Given the description of an element on the screen output the (x, y) to click on. 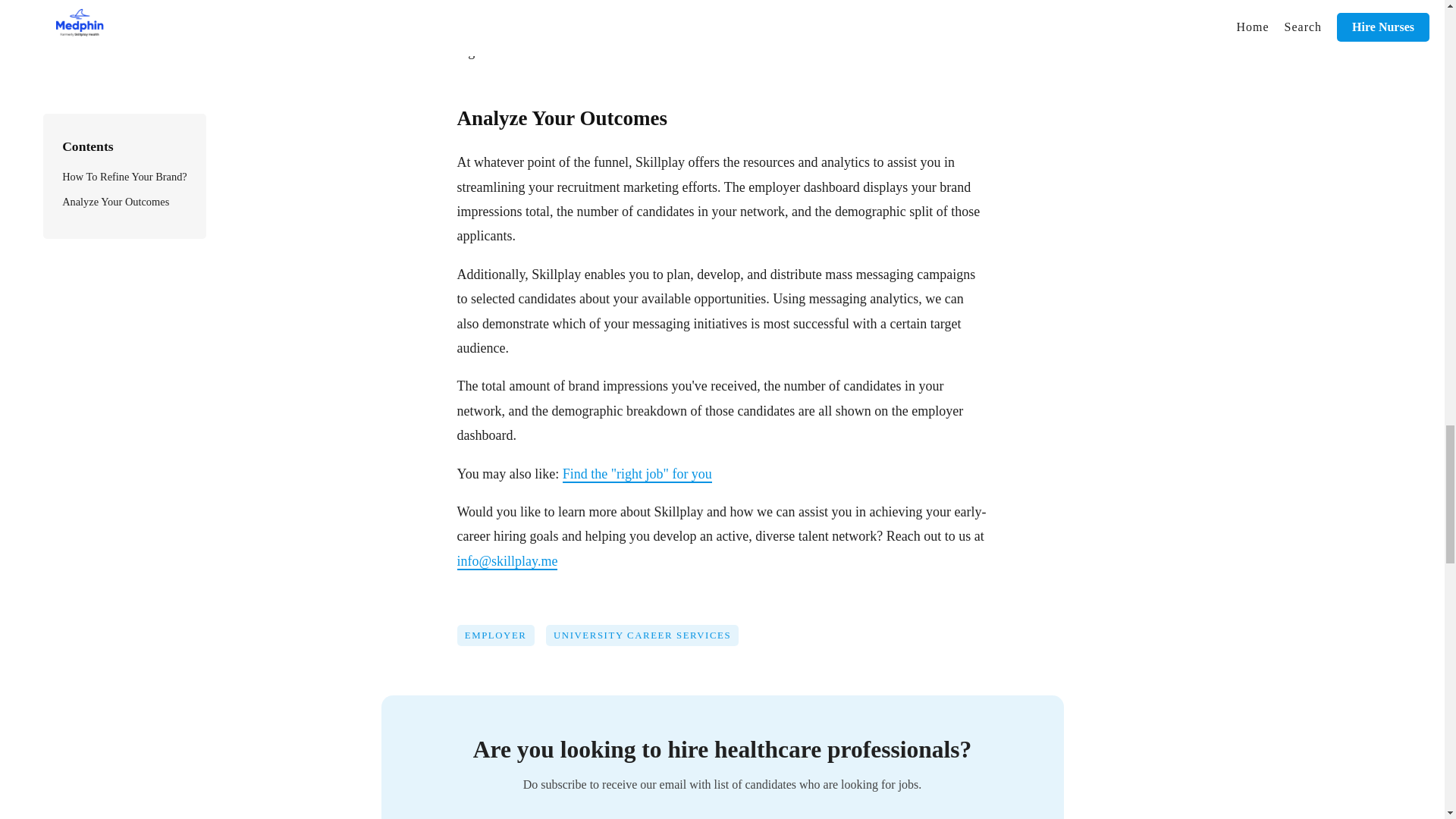
UNIVERSITY CAREER SERVICES (648, 640)
EMPLOYER (500, 640)
Find the "right job" for you (636, 474)
